Given the description of an element on the screen output the (x, y) to click on. 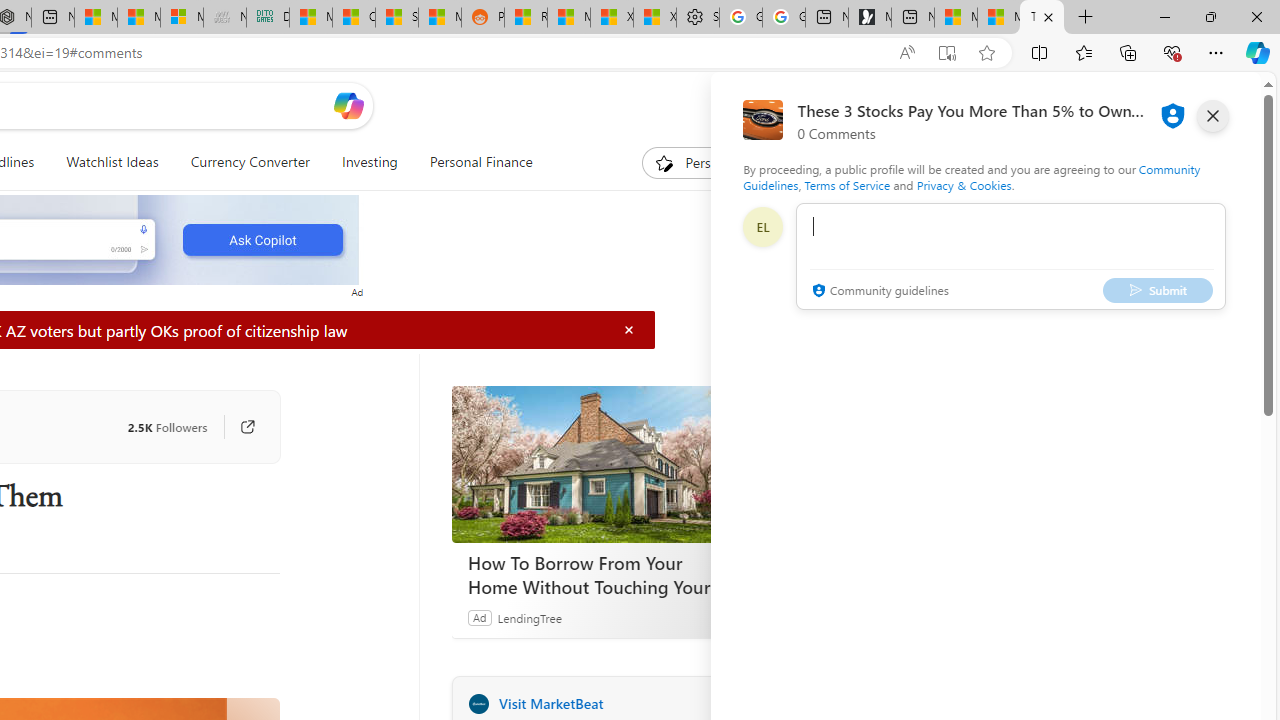
Investing (369, 162)
Privacy & Cookies (964, 184)
Personal Finance (480, 162)
Community guidelines (878, 291)
Watchlist Ideas (112, 162)
Go to publisher's site (237, 426)
Watchlist Ideas (112, 162)
